Given the description of an element on the screen output the (x, y) to click on. 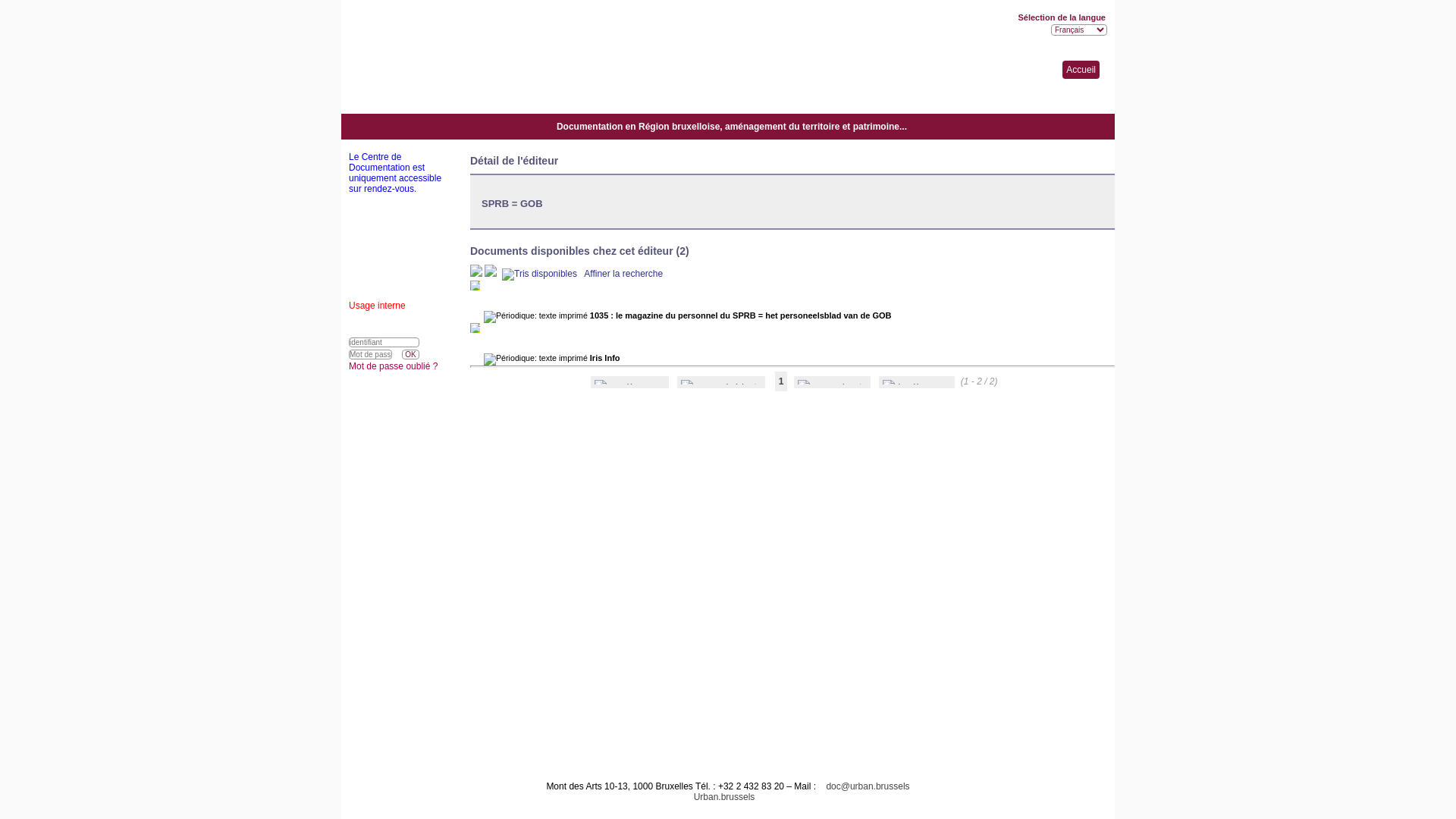
Accueil Element type: text (1080, 69)
Urban.brussels Element type: text (720, 796)
doc@urban.brussels Element type: text (863, 786)
Tris disponibles Element type: hover (540, 273)
Affiner la recherche Element type: text (622, 273)
ok Element type: text (409, 354)
